Given the description of an element on the screen output the (x, y) to click on. 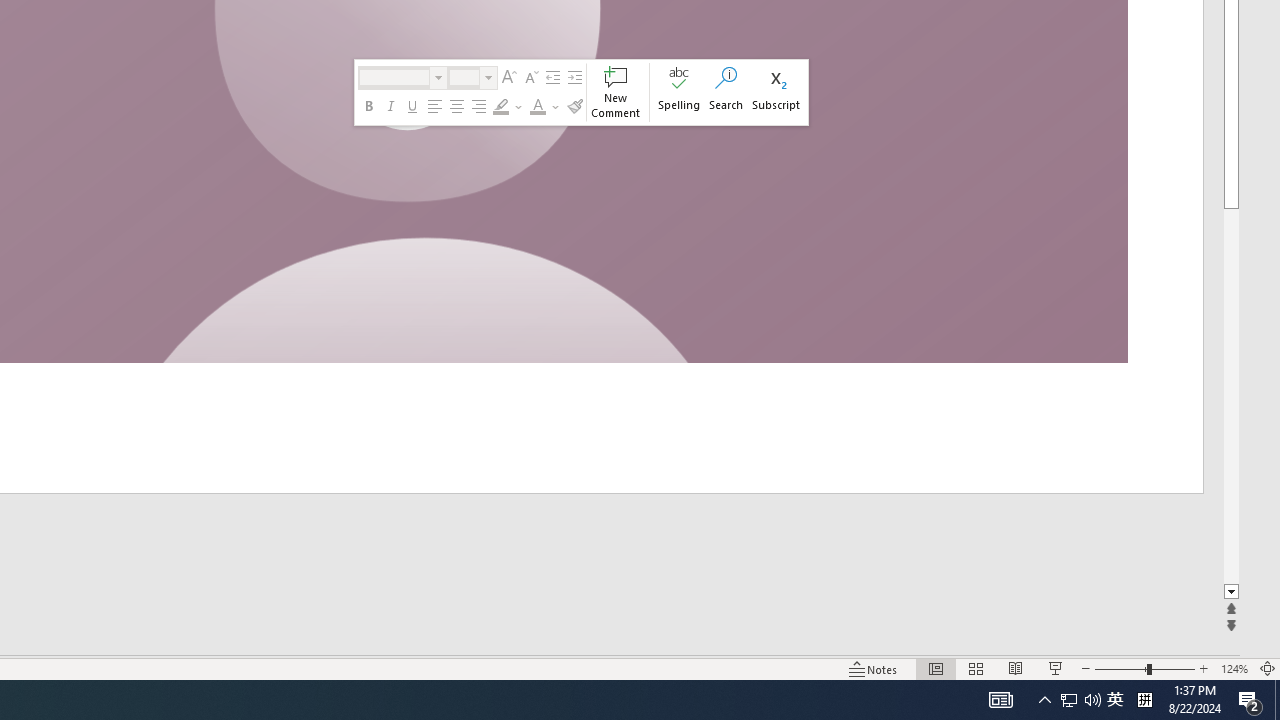
Subscript (776, 92)
New Comment (616, 92)
Class: NetUIComboboxAnchor (472, 78)
Zoom 124% (1234, 668)
